Given the description of an element on the screen output the (x, y) to click on. 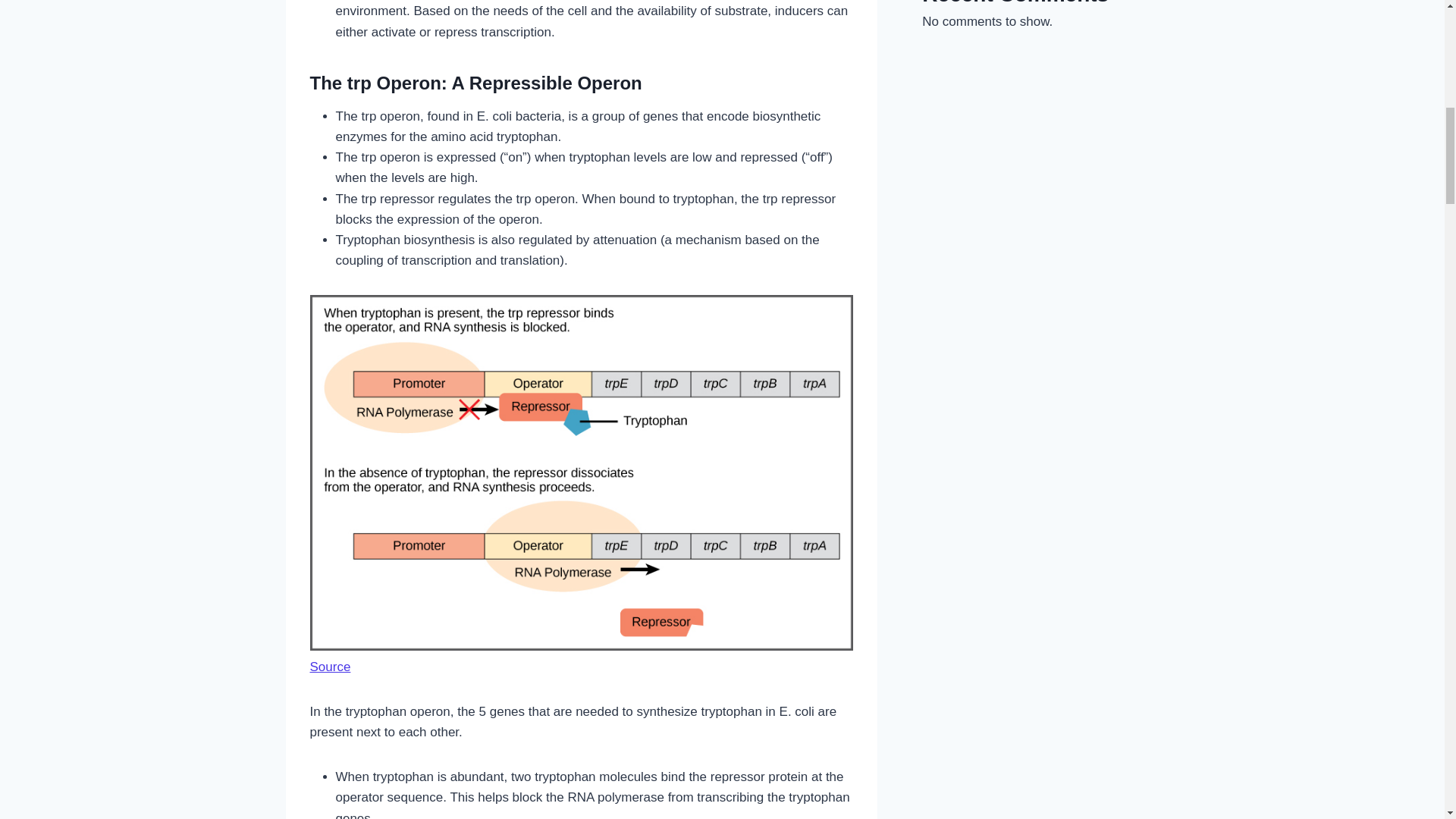
Source (329, 667)
